Given the description of an element on the screen output the (x, y) to click on. 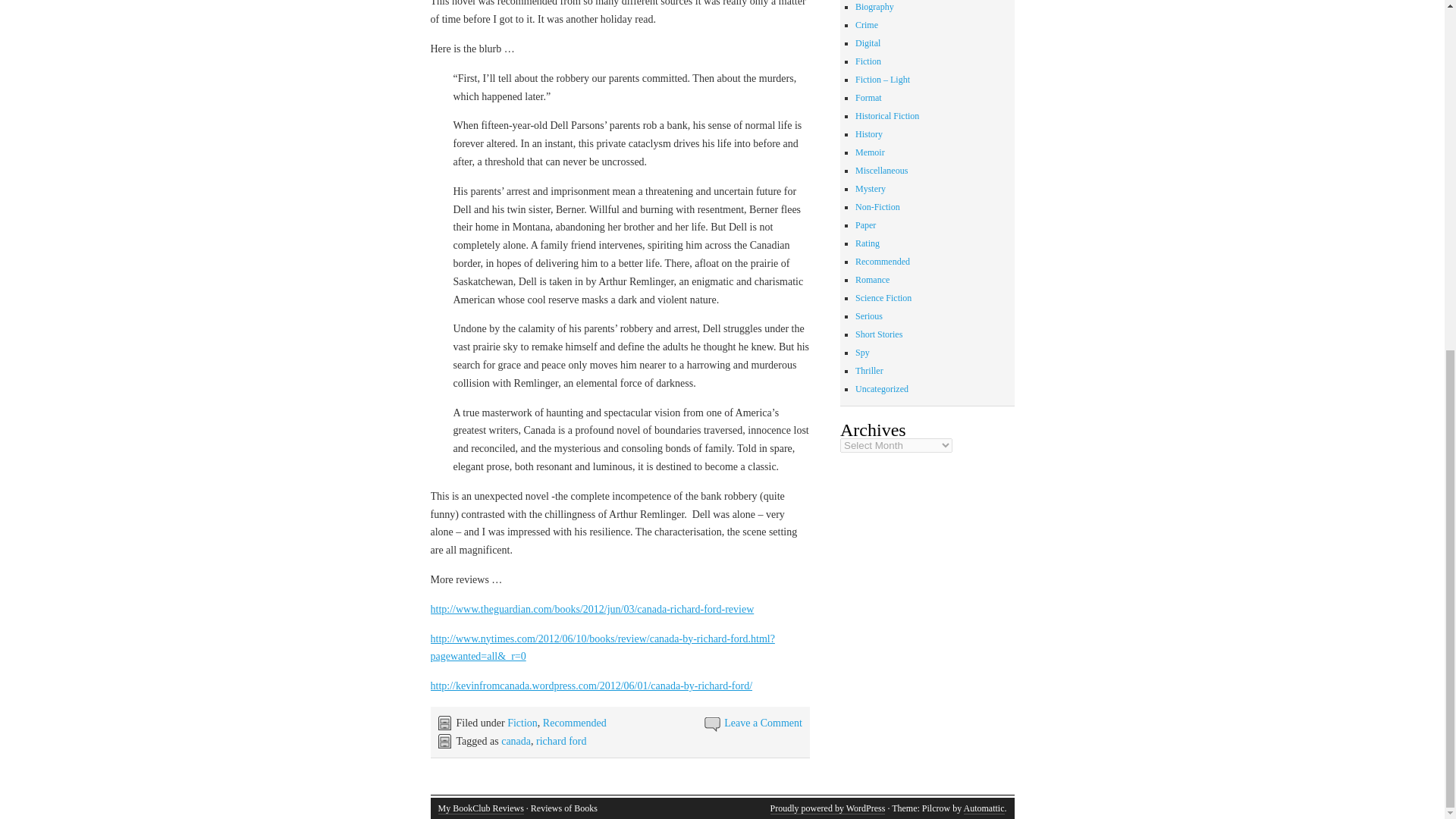
My BookClub Reviews (481, 808)
Fiction (521, 722)
Mystery (870, 188)
Digital (868, 42)
Memoir (870, 152)
Paper (866, 225)
Leave a Comment (762, 722)
Recommended (575, 722)
richard ford (560, 740)
Crime (866, 24)
canada (515, 740)
A Semantic Personal Publishing Platform (827, 808)
Miscellaneous (881, 170)
History (869, 133)
Fiction (868, 61)
